Given the description of an element on the screen output the (x, y) to click on. 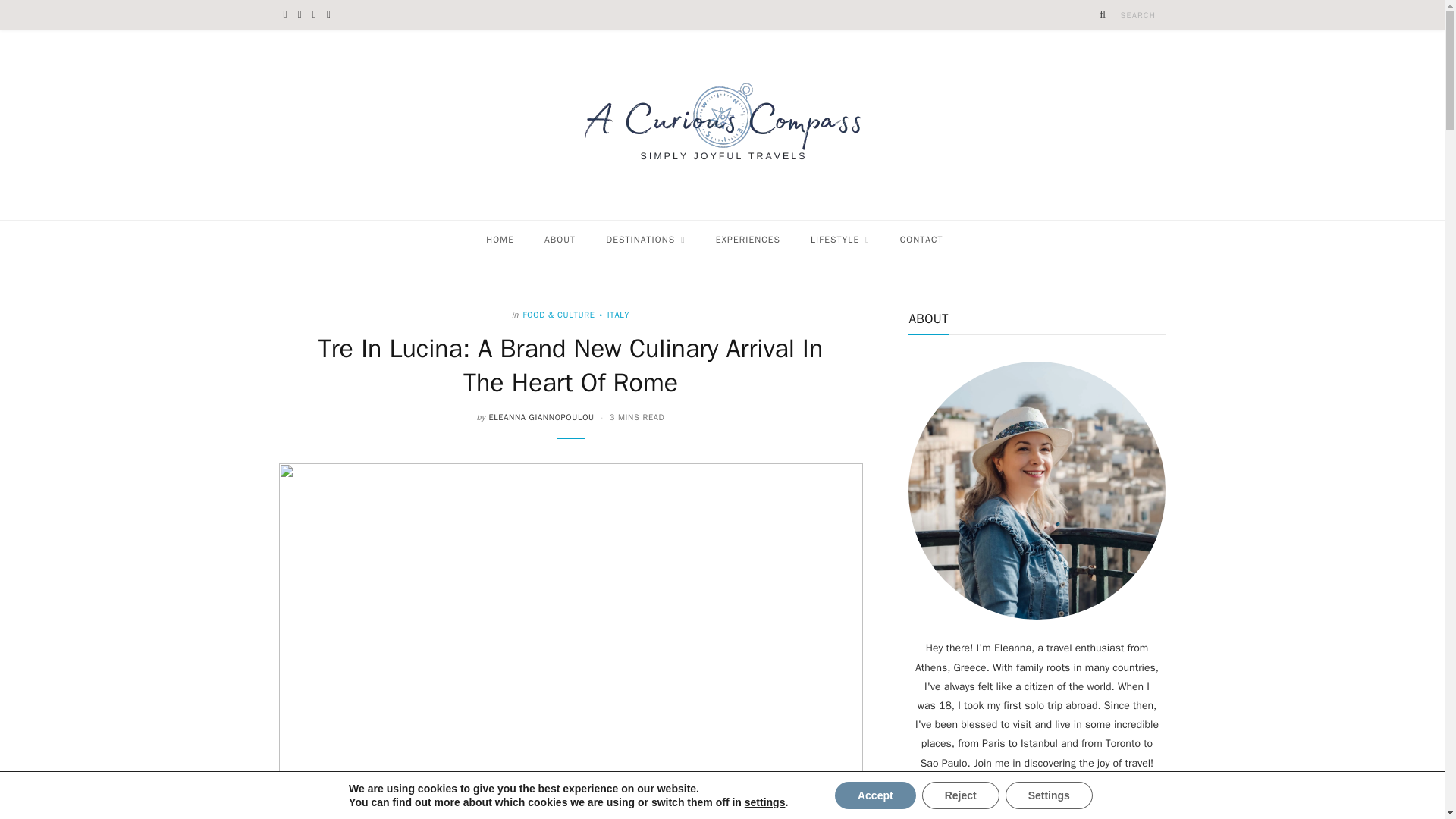
ELEANNA GIANNOPOULOU (540, 416)
ABOUT (560, 239)
ITALY (612, 314)
Posts by Eleanna Giannopoulou (540, 416)
EXPERIENCES (747, 239)
LIFESTYLE (839, 239)
A Curious Compass (722, 125)
CONTACT (921, 239)
DESTINATIONS (645, 239)
HOME (499, 239)
